Given the description of an element on the screen output the (x, y) to click on. 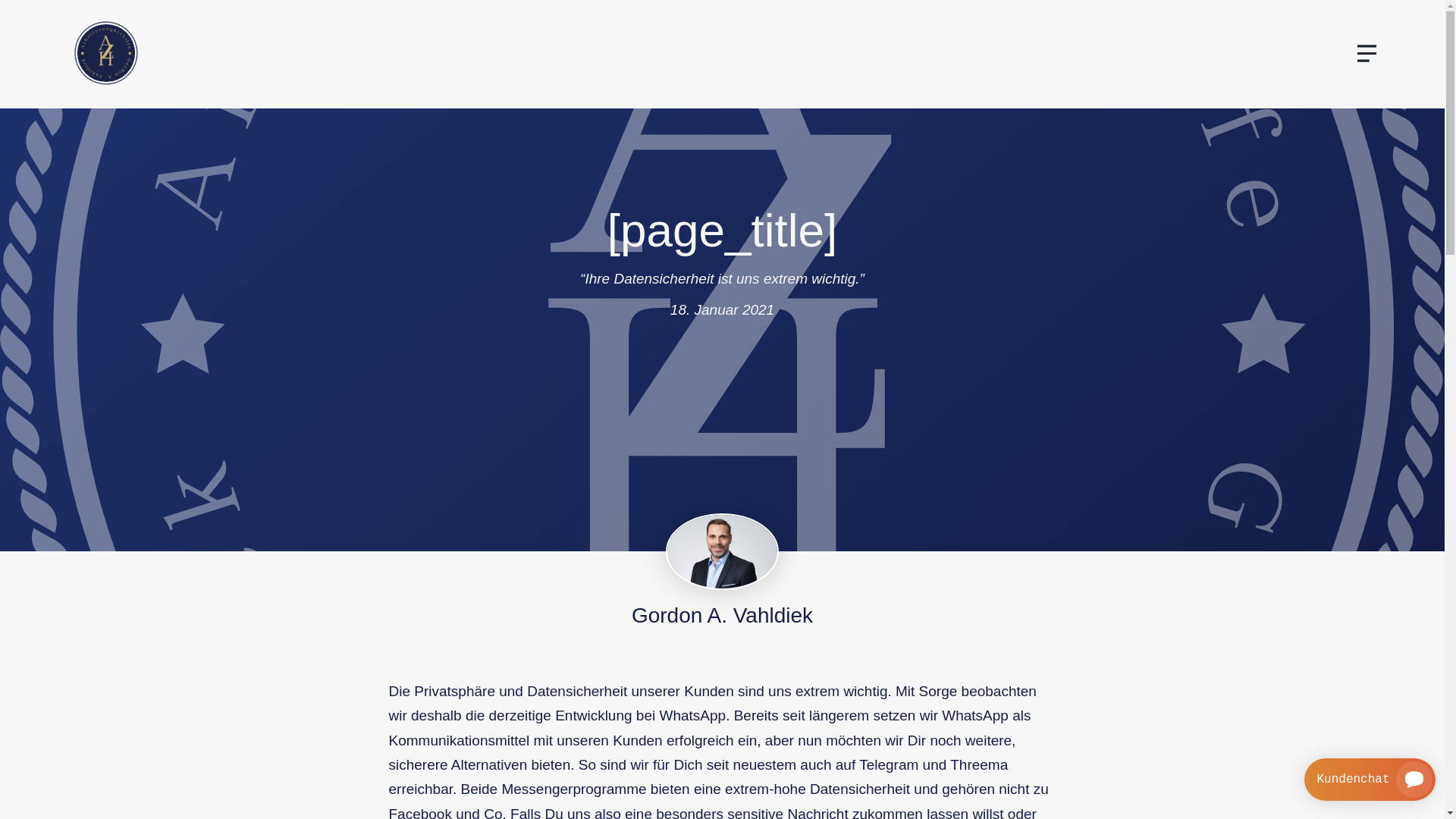
Smartsupp widget button Element type: hover (1369, 779)
